Given the description of an element on the screen output the (x, y) to click on. 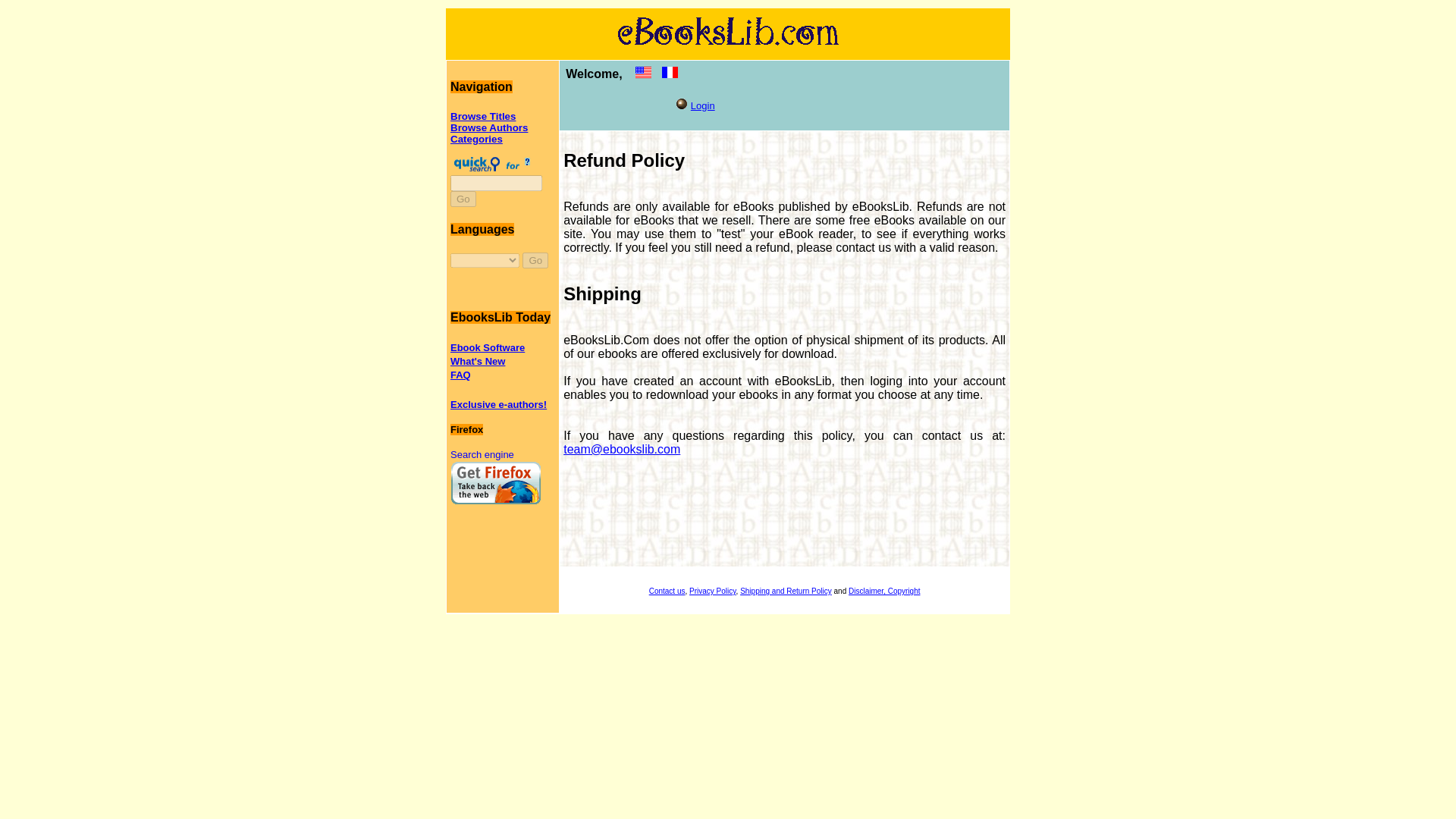
Search engine (481, 454)
Browse Authors (488, 127)
Login (702, 105)
Disclaimer, Copyright (884, 591)
Get Firefox! (495, 483)
What's New (477, 360)
Browse Titles (482, 116)
Go (462, 198)
Go (462, 198)
Categories (475, 138)
